Given the description of an element on the screen output the (x, y) to click on. 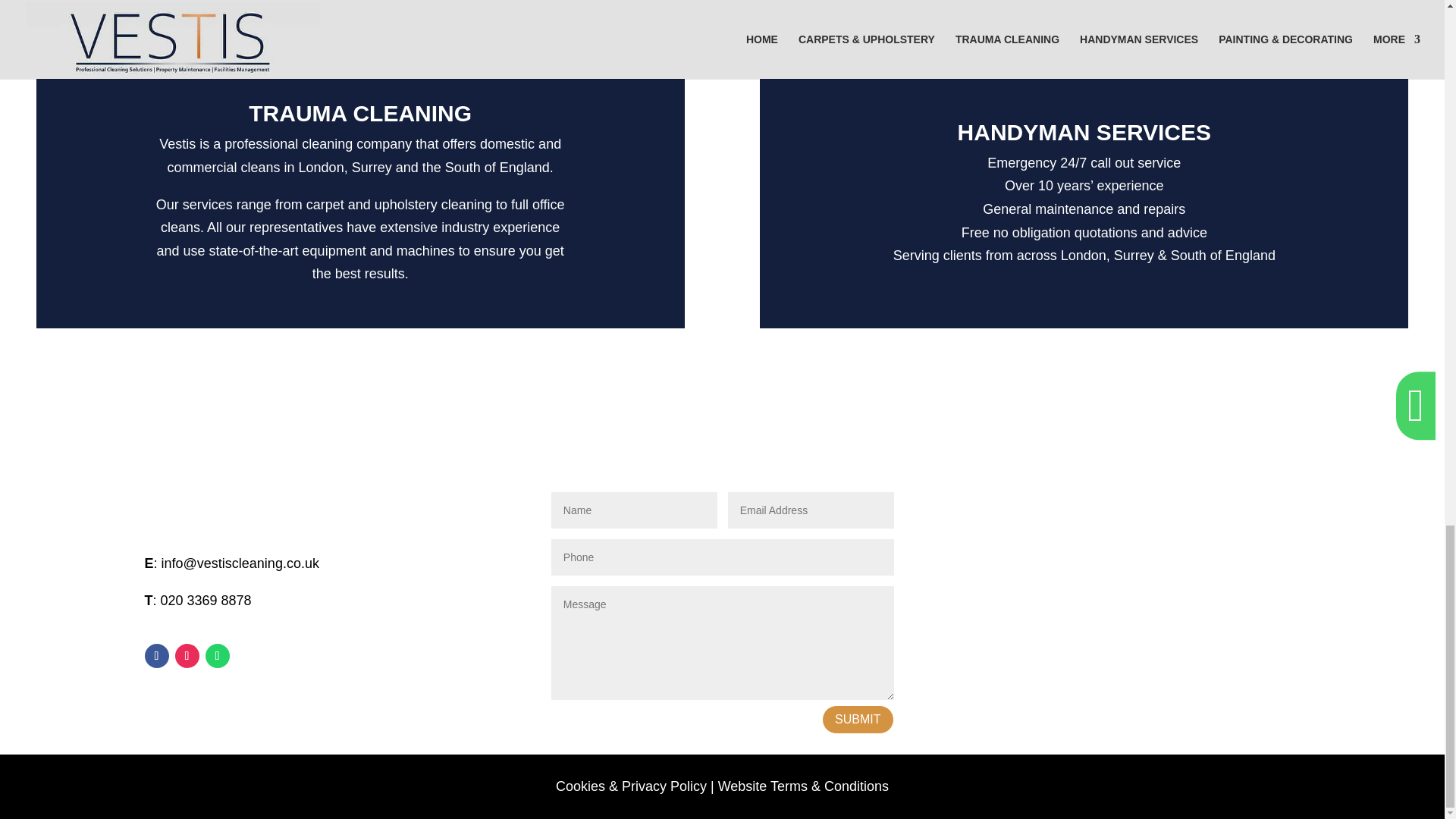
HANDYMAN SERVICES (1084, 131)
Follow on WhatsApp (216, 655)
SUBMIT (857, 719)
Follow on Facebook (156, 655)
TRAUMA CLEANING (359, 113)
Follow on Instagram (186, 655)
